Given the description of an element on the screen output the (x, y) to click on. 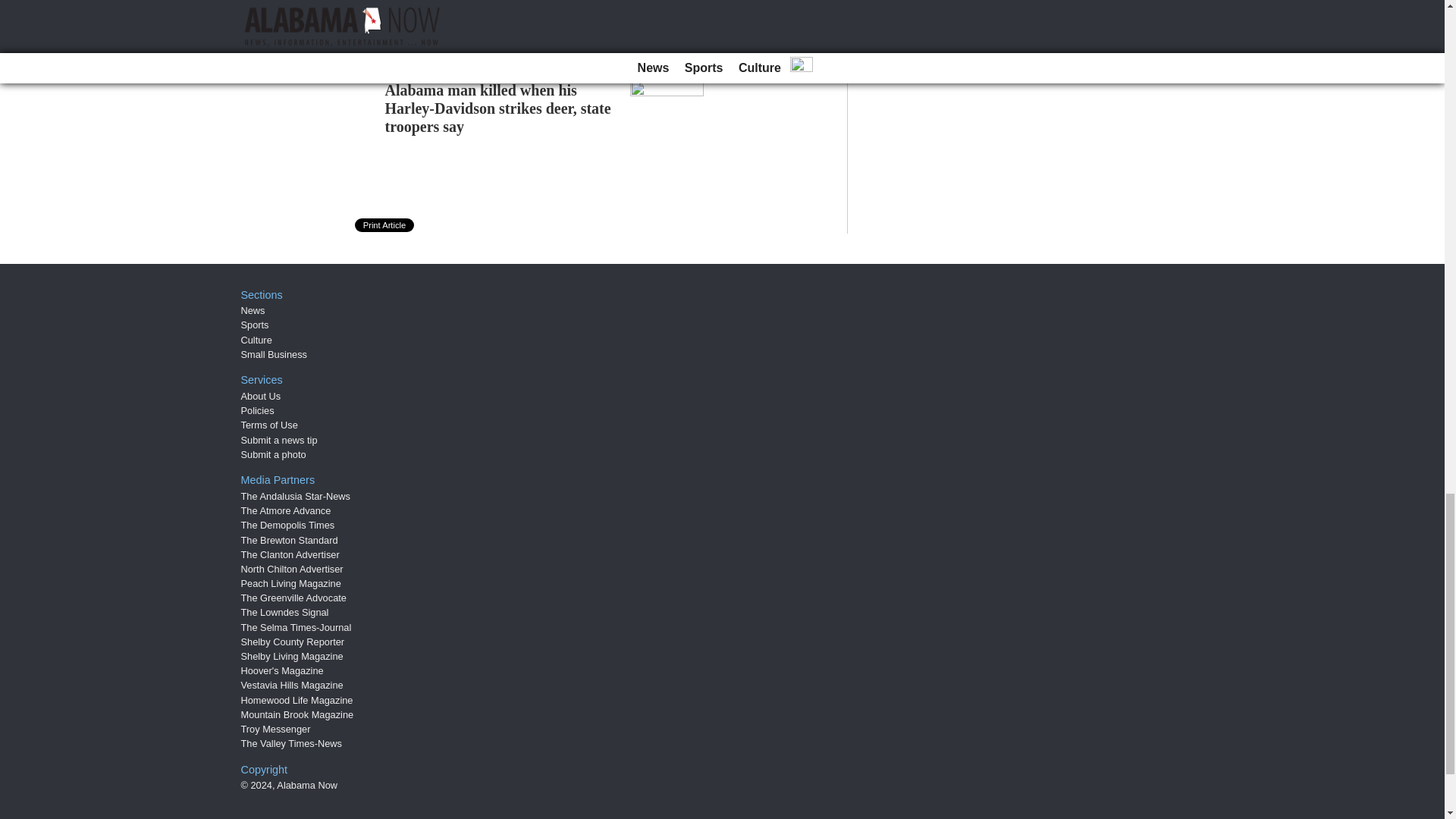
Peach Living Magazine (290, 583)
News (252, 310)
Policies (258, 410)
The Demopolis Times (287, 524)
Terms of Use (269, 424)
The Clanton Advertiser (290, 554)
Small Business (274, 354)
The Andalusia Star-News (295, 496)
